Given the description of an element on the screen output the (x, y) to click on. 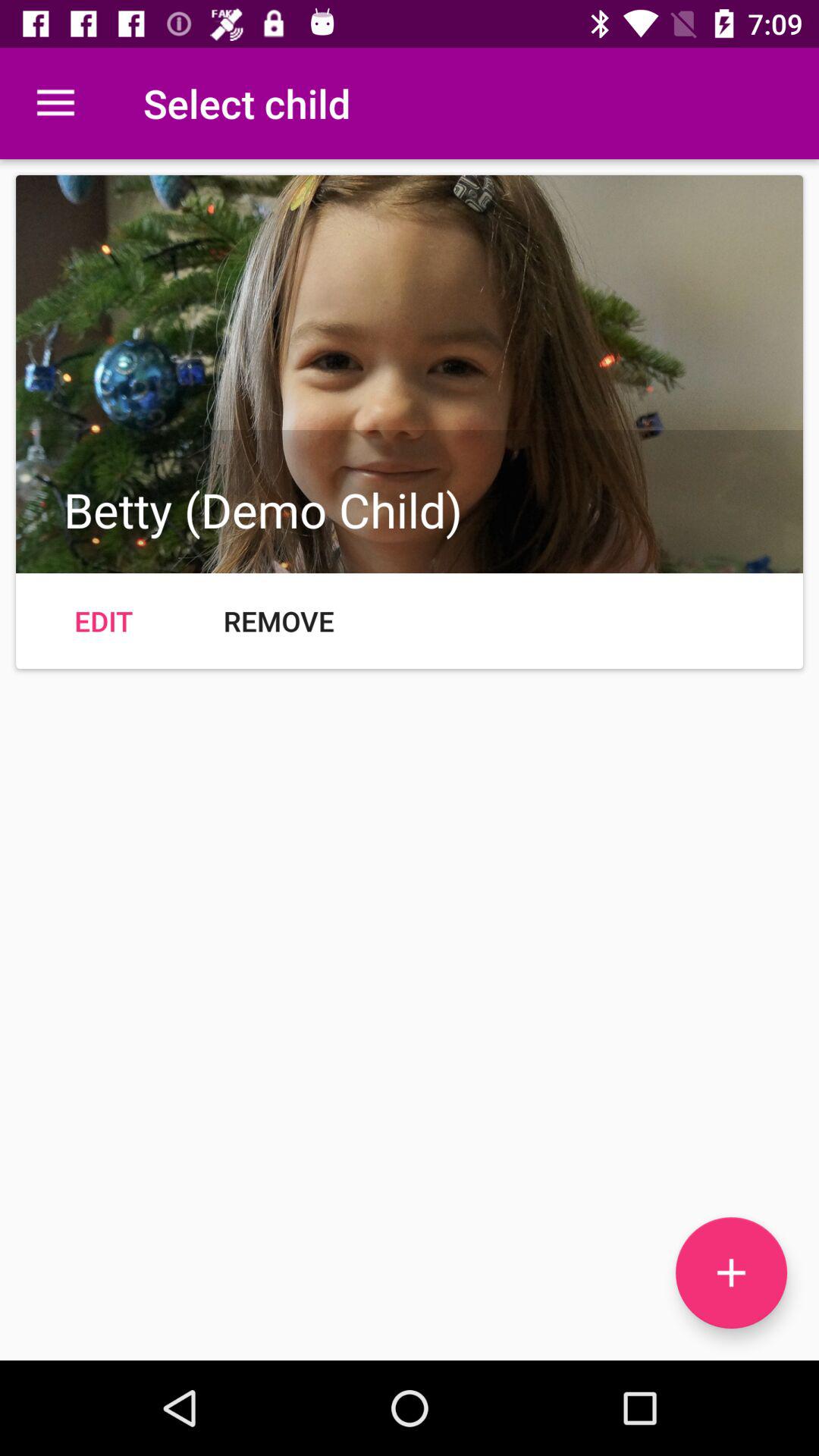
jump until the remove item (278, 620)
